Given the description of an element on the screen output the (x, y) to click on. 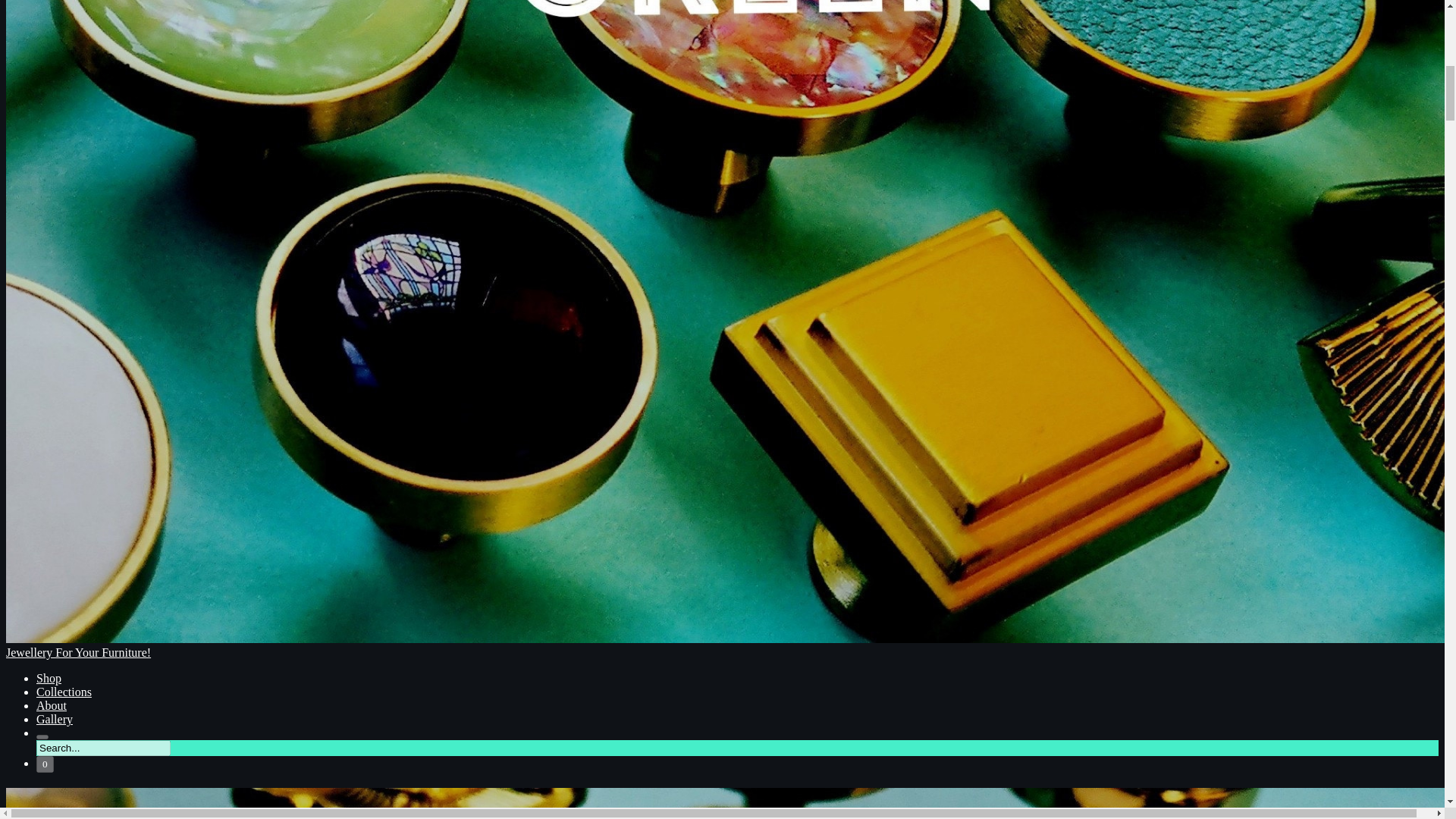
About (51, 705)
Shop (48, 677)
0 (44, 764)
Jewellery For Your Furniture! (721, 803)
Collections (63, 691)
Gallery (54, 718)
